Given the description of an element on the screen output the (x, y) to click on. 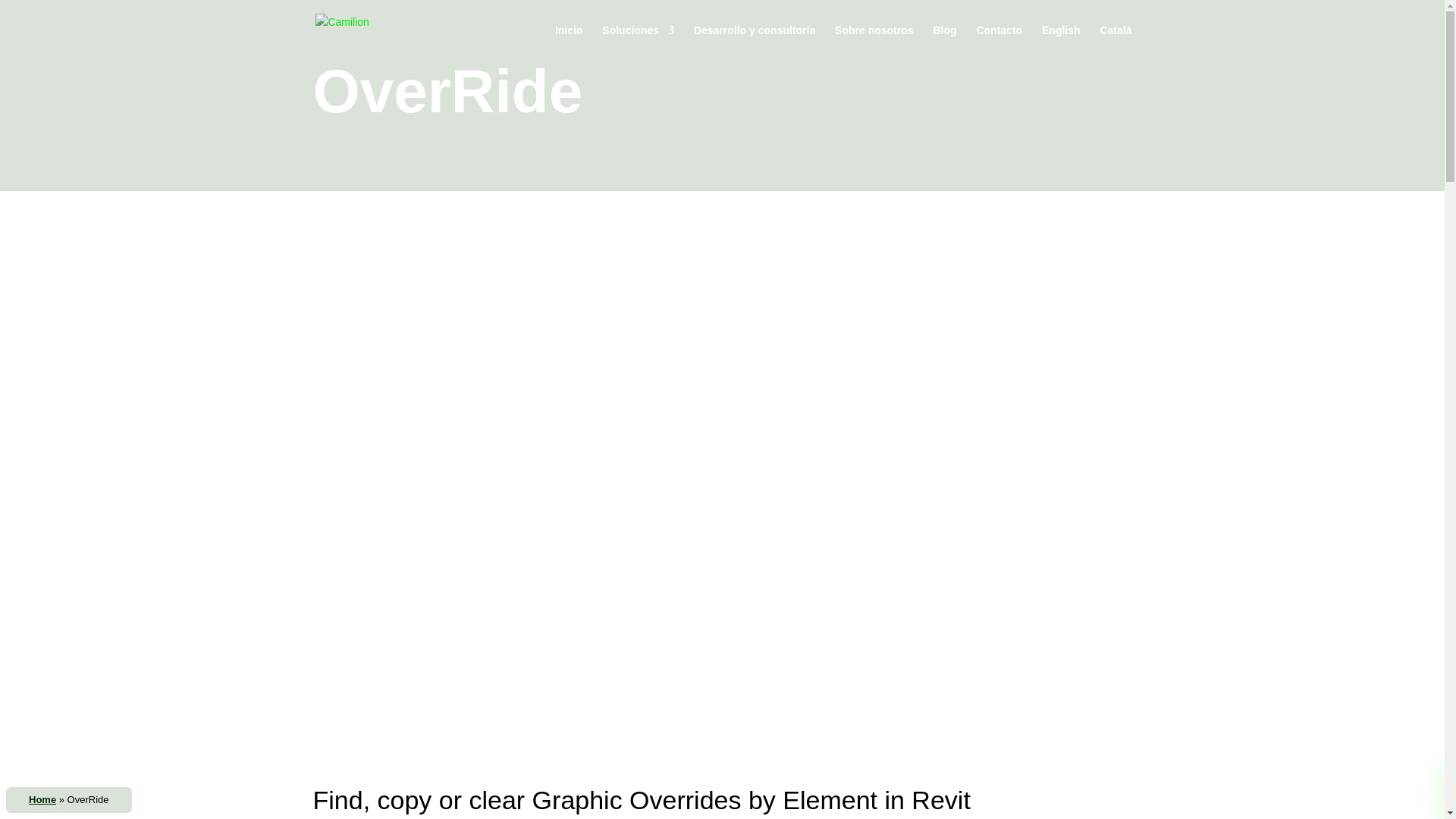
English (1061, 42)
Find, copy or clear Graphic Overrides by Element in Revit (641, 799)
Home (42, 799)
Sobre nosotros (873, 42)
Soluciones (638, 42)
English (1061, 42)
Contacto (998, 42)
